Given the description of an element on the screen output the (x, y) to click on. 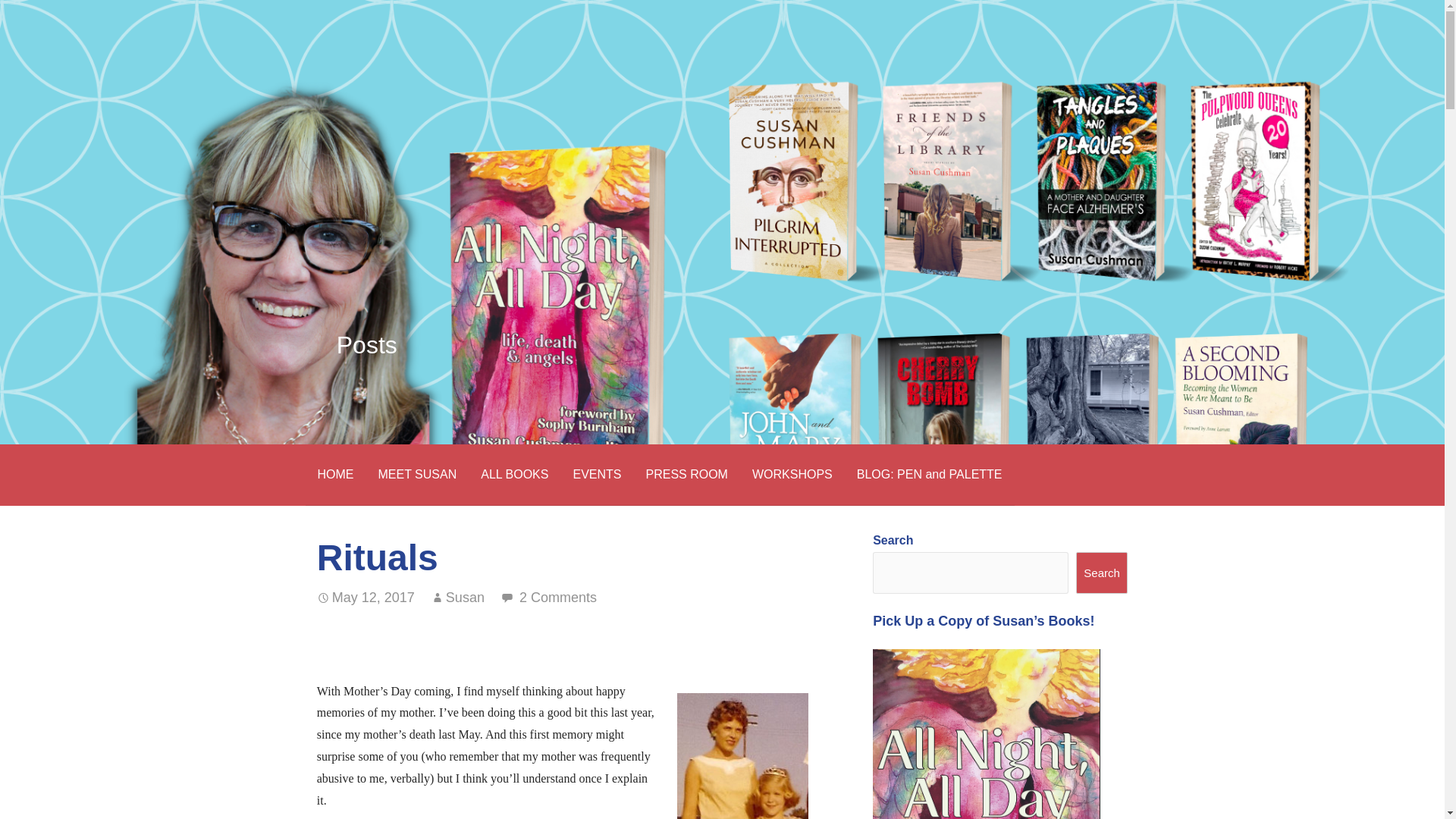
MEET SUSAN (416, 475)
PRESS ROOM (686, 475)
EVENTS (596, 475)
WORKSHOPS (791, 475)
ALL BOOKS (514, 475)
Susan (464, 597)
Search (1100, 572)
Posts by Susan (464, 597)
BLOG: PEN and PALETTE (929, 475)
AUTHOR SUSAN CUSHMAN (453, 75)
2 Comments (557, 597)
HOME (334, 475)
